Given the description of an element on the screen output the (x, y) to click on. 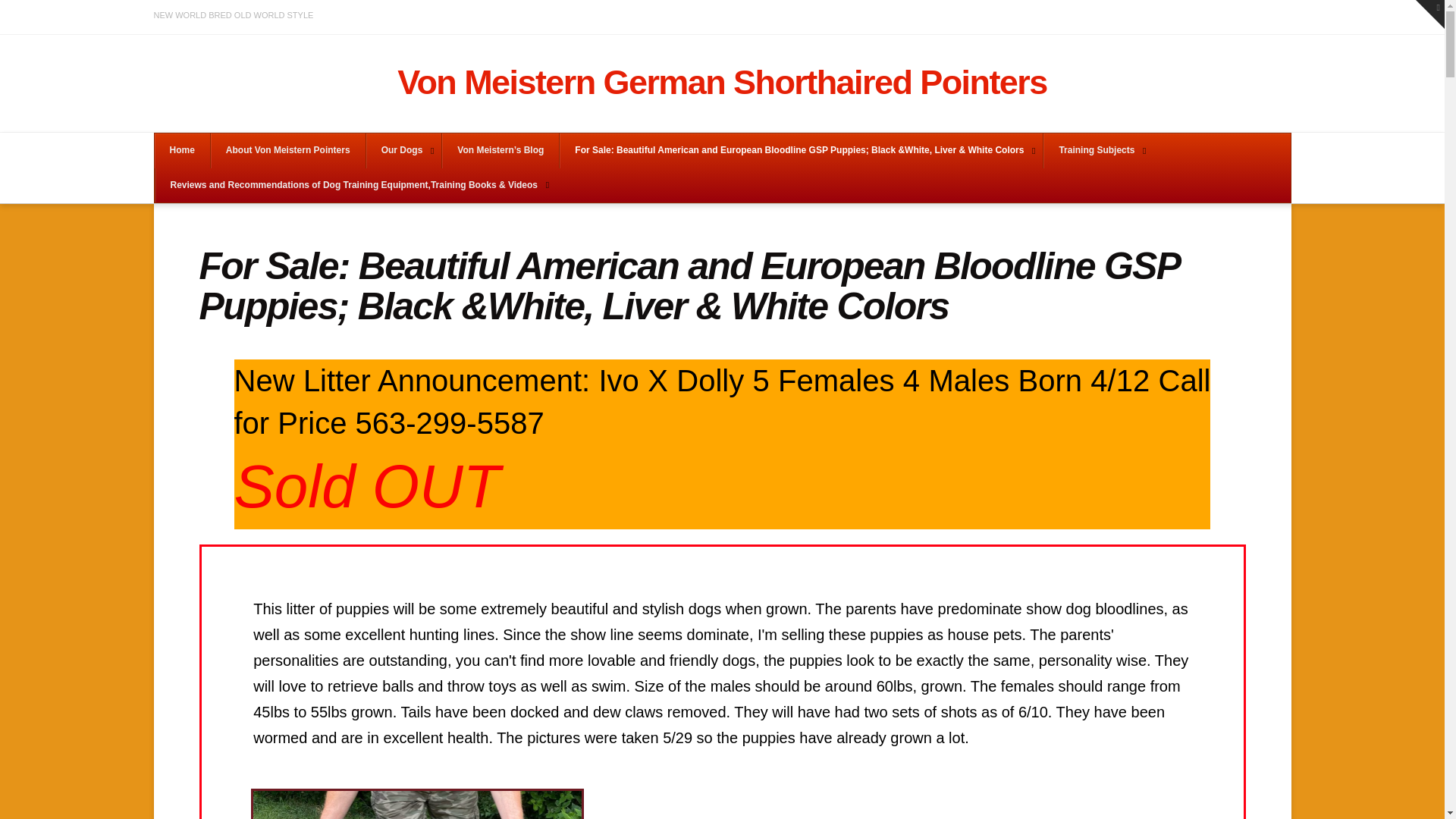
Home (181, 150)
Training Subjects (1097, 150)
Von Meistern German Shorthaired Pointers (721, 82)
About Von Meistern Pointers (287, 150)
Our Dogs (403, 150)
